Given the description of an element on the screen output the (x, y) to click on. 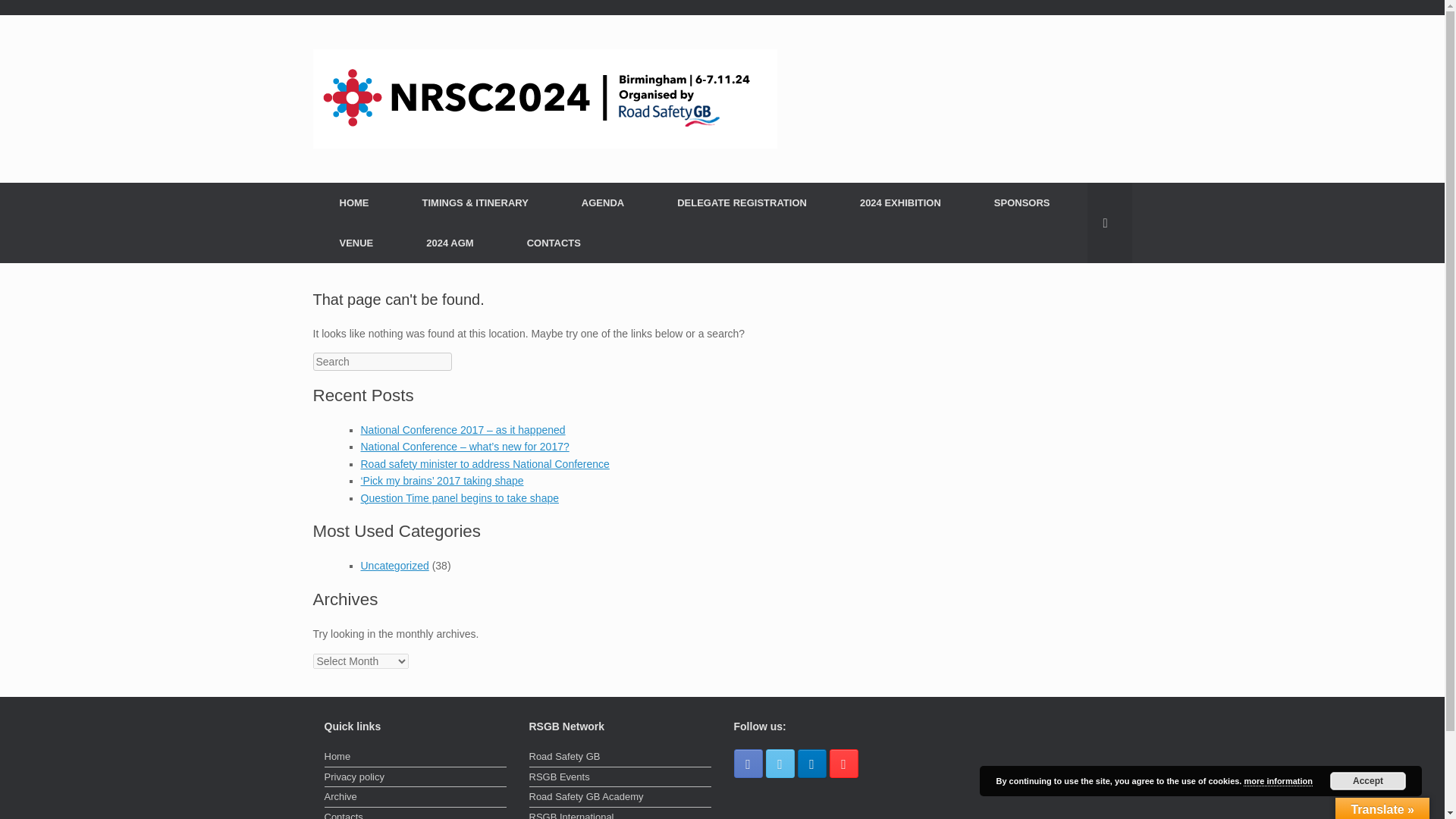
Question Time panel begins to take shape (460, 498)
RSGB Events (620, 778)
Road Safety GB Twitter (779, 763)
HOME (353, 201)
RSGB International (620, 814)
SPONSORS (1022, 201)
Road Safety GB LinkedIn (812, 763)
DELEGATE REGISTRATION (741, 201)
Archive (415, 798)
Road Safety GB (544, 98)
Road safety minister to address National Conference (485, 463)
Road Safety GB Academy (620, 798)
2024 AGM (448, 242)
Road Safety GB Facebook (747, 763)
Road Safety GB YouTube (844, 763)
